Given the description of an element on the screen output the (x, y) to click on. 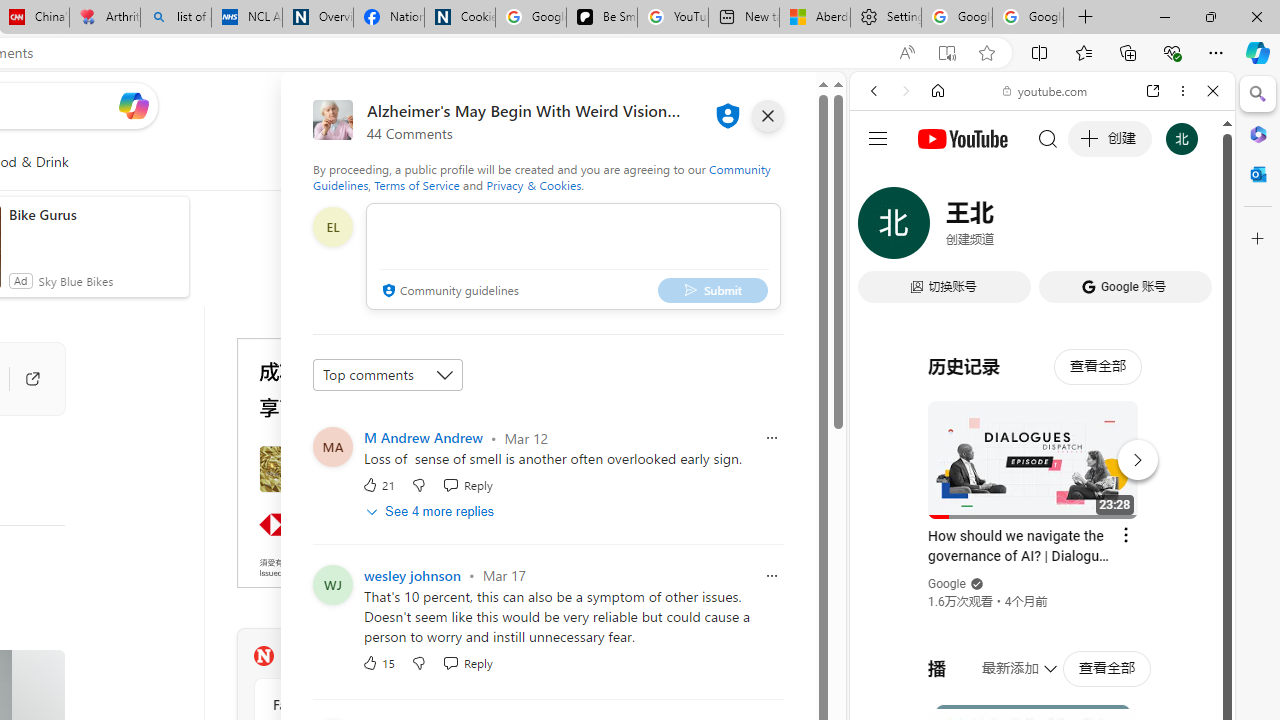
Visit Newsweek website (511, 655)
Open Copilot (132, 105)
Favorites (1083, 52)
Global web icon (888, 288)
Ad (530, 593)
Browser essentials (1171, 52)
Preferences (1189, 228)
Minimize (1164, 16)
Trailer #2 [HD] (1042, 592)
NCL Adult Asthma Inhaler Choice Guideline (246, 17)
Open link in new tab (1153, 91)
